Given the description of an element on the screen output the (x, y) to click on. 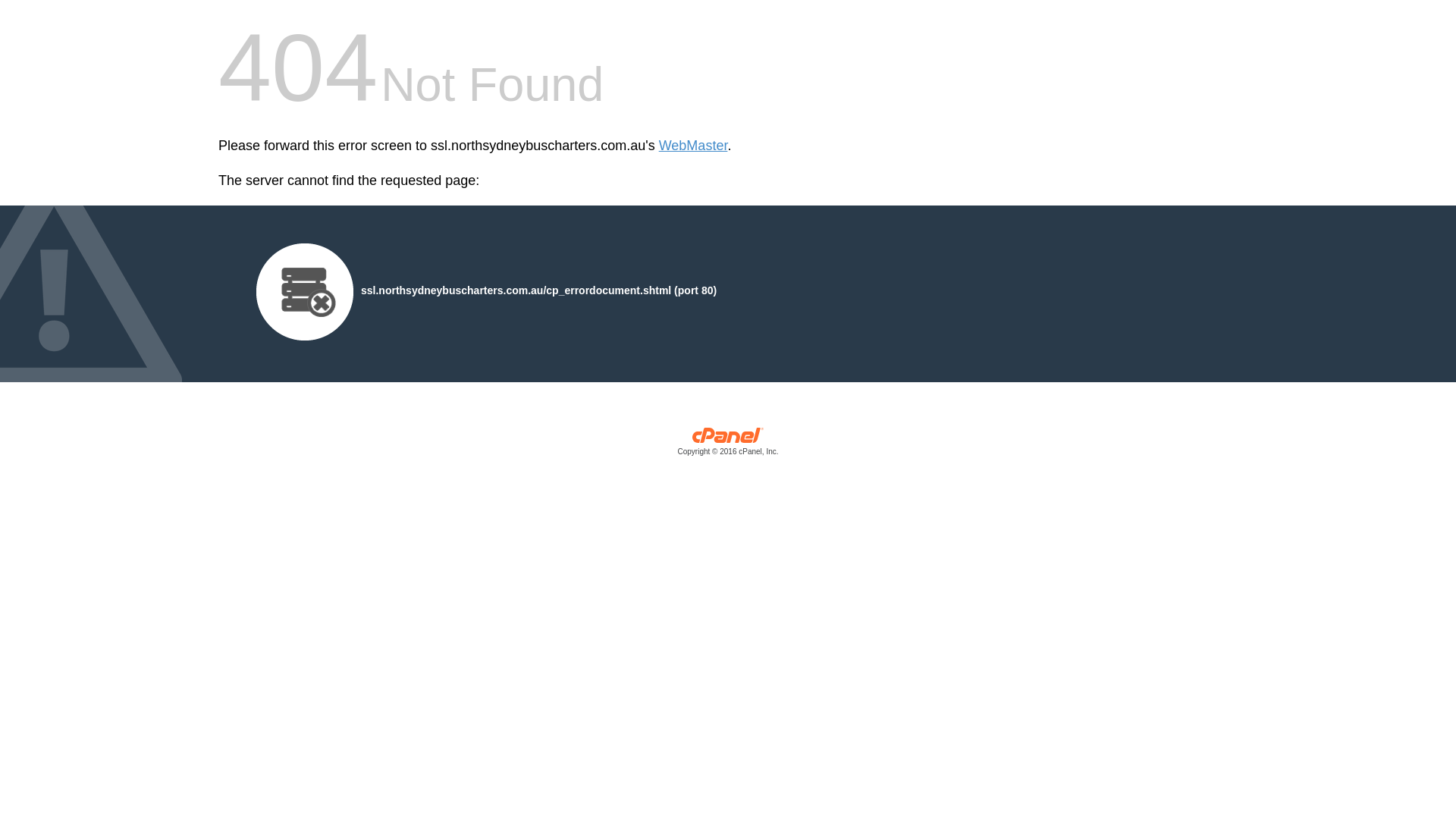
WebMaster Element type: text (693, 145)
